Given the description of an element on the screen output the (x, y) to click on. 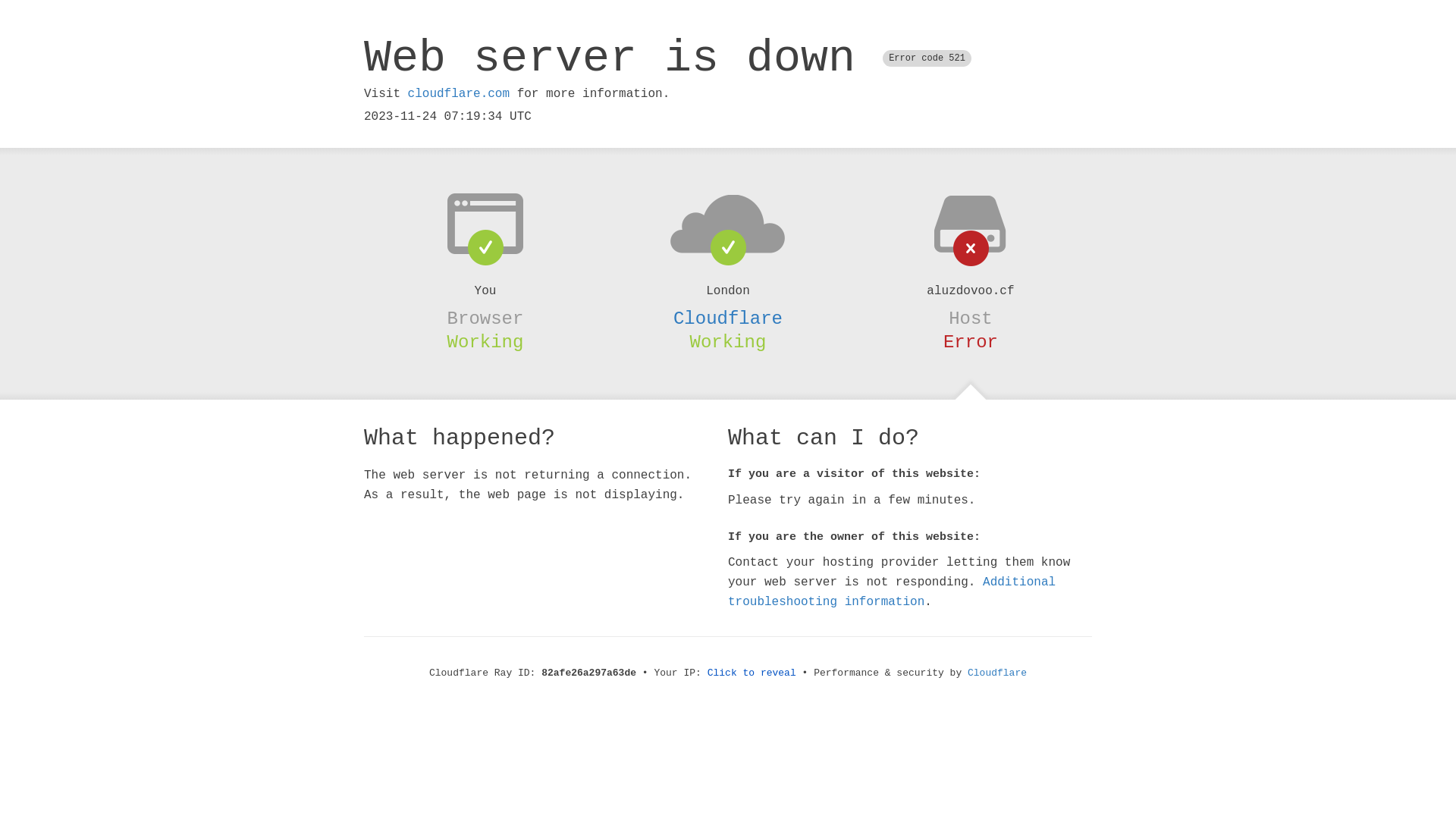
Cloudflare Element type: text (727, 318)
Additional troubleshooting information Element type: text (891, 591)
cloudflare.com Element type: text (458, 93)
Cloudflare Element type: text (996, 672)
Click to reveal Element type: text (751, 672)
